Given the description of an element on the screen output the (x, y) to click on. 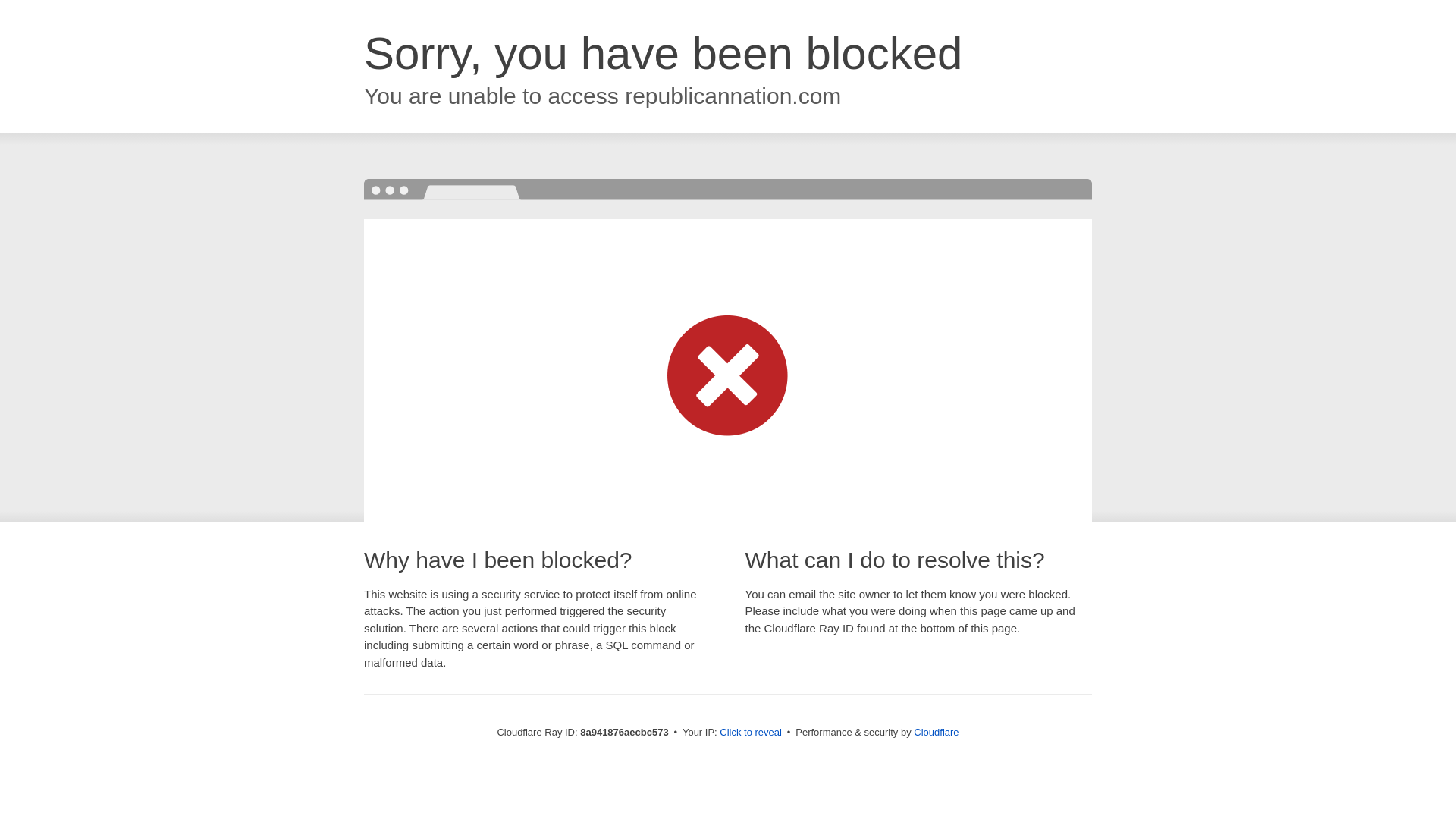
Cloudflare (936, 731)
Click to reveal (750, 732)
